Given the description of an element on the screen output the (x, y) to click on. 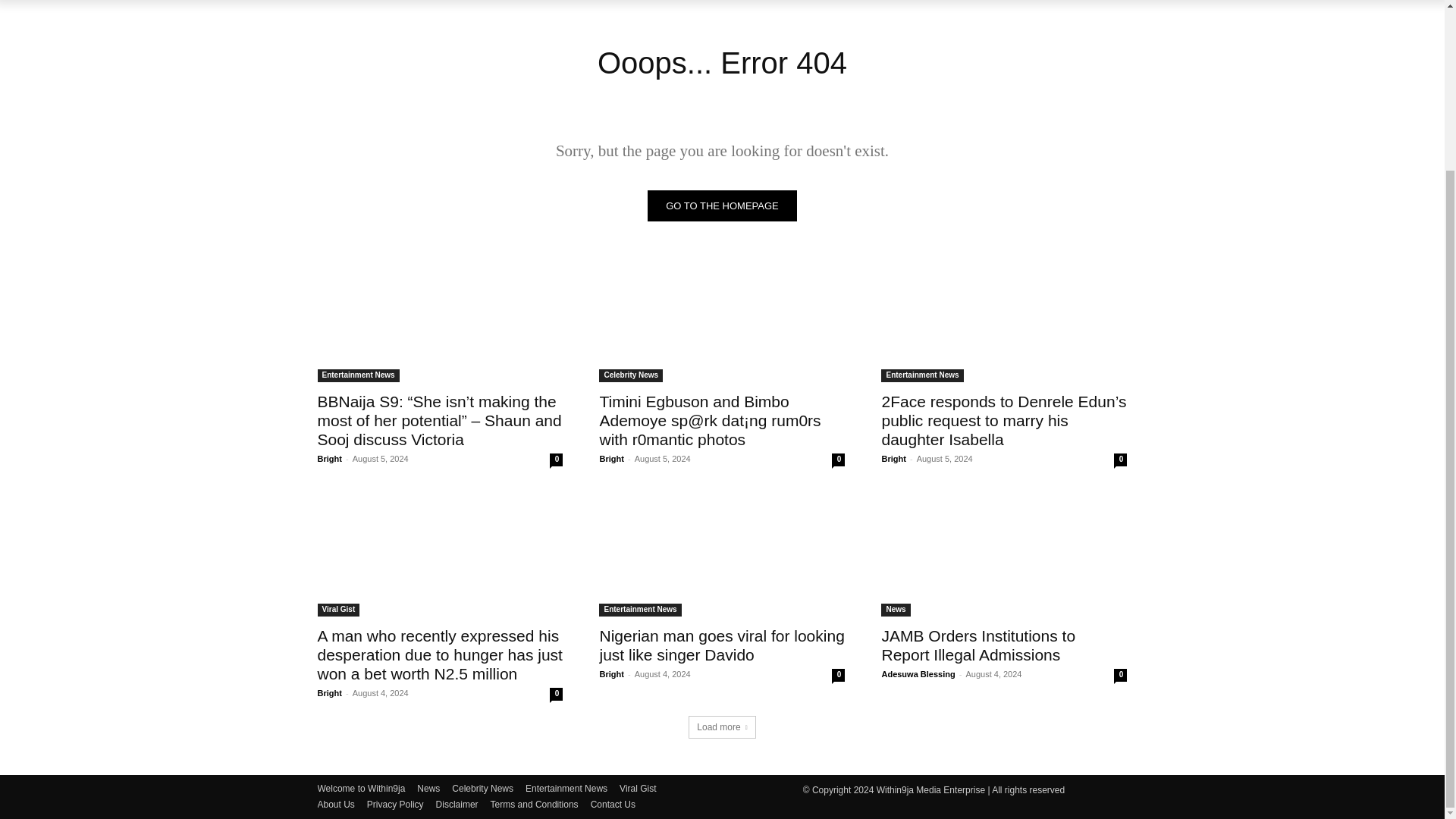
Entertainment News (357, 375)
Bright (892, 458)
Bright (328, 458)
Bright (610, 458)
0 (556, 459)
JAMB Orders Institutions to Report Illegal Admissions (977, 645)
GO TO THE HOMEPAGE (721, 205)
Go to the homepage (721, 205)
Entertainment News (921, 375)
Celebrity News (630, 375)
Nigerian man goes viral for looking just like singer Davido (721, 554)
Nigerian man goes viral for looking just like singer Davido (721, 645)
0 (1119, 459)
